Given the description of an element on the screen output the (x, y) to click on. 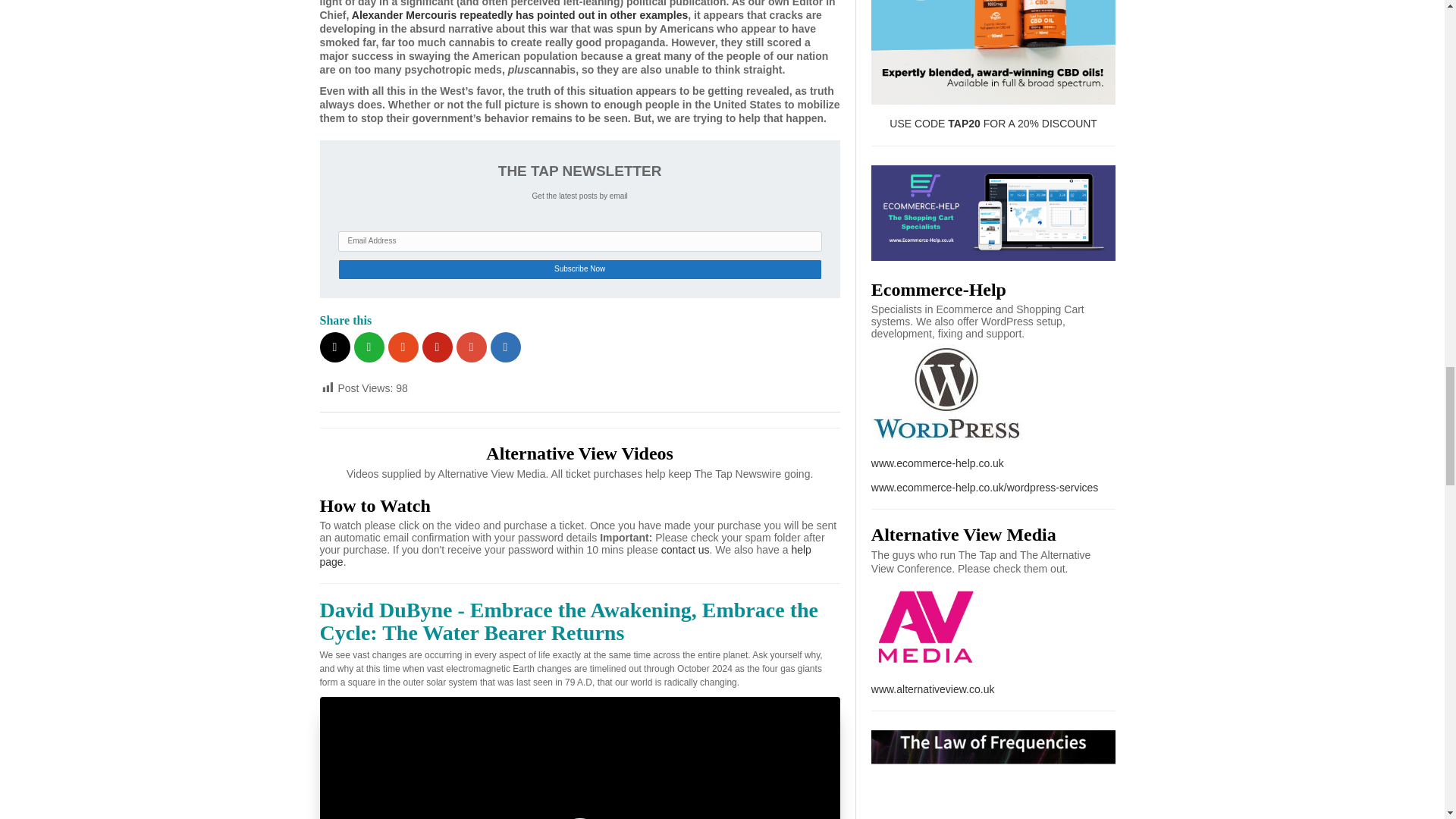
Subscribe Now (579, 269)
Subscribe Now (579, 269)
contact us (685, 549)
